Given the description of an element on the screen output the (x, y) to click on. 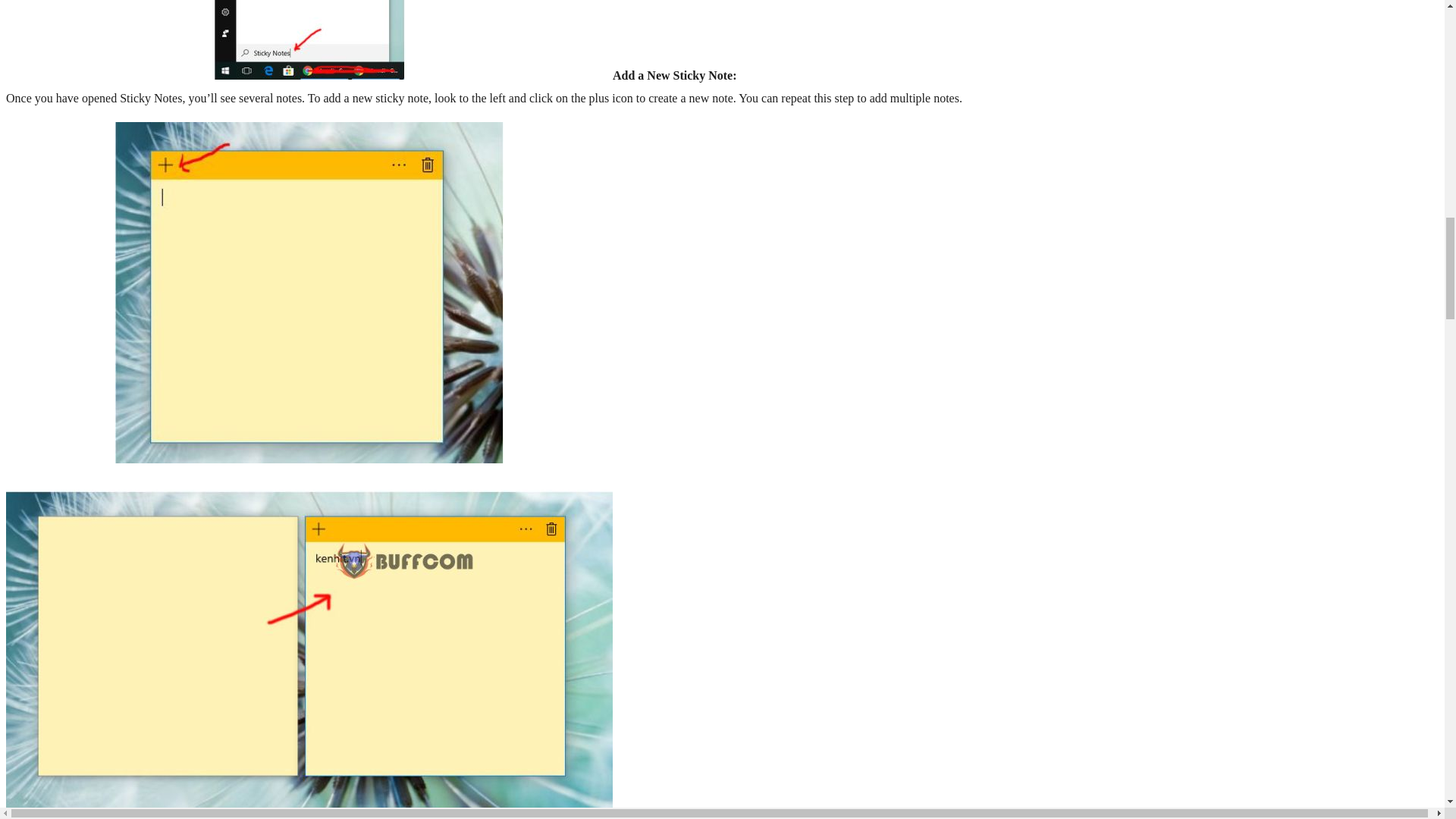
How To Create Sticky Notes On Windows 10 1 (308, 39)
